Given the description of an element on the screen output the (x, y) to click on. 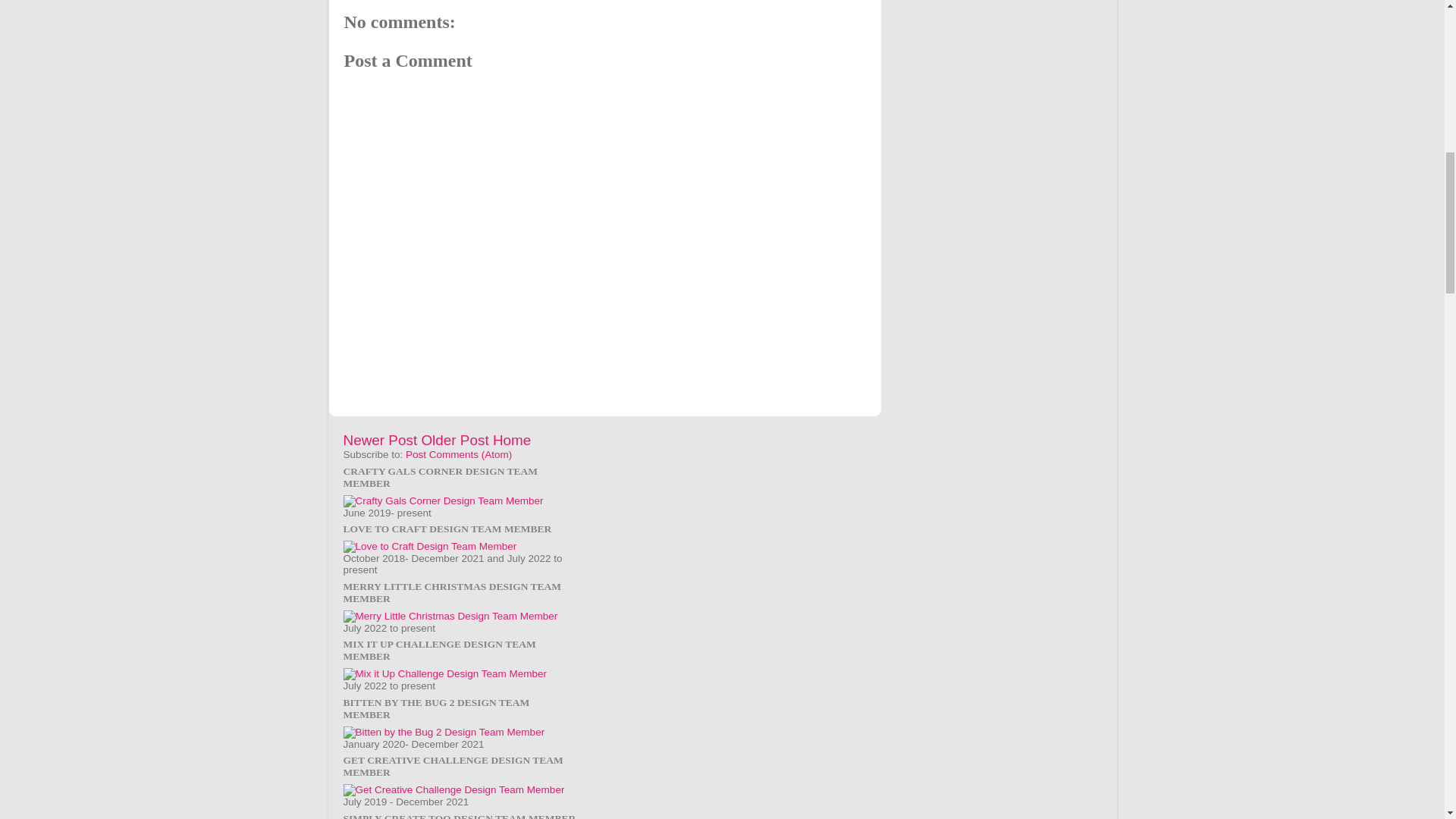
Older Post (453, 439)
Newer Post (379, 439)
Home (512, 439)
Older Post (453, 439)
Newer Post (379, 439)
